Given the description of an element on the screen output the (x, y) to click on. 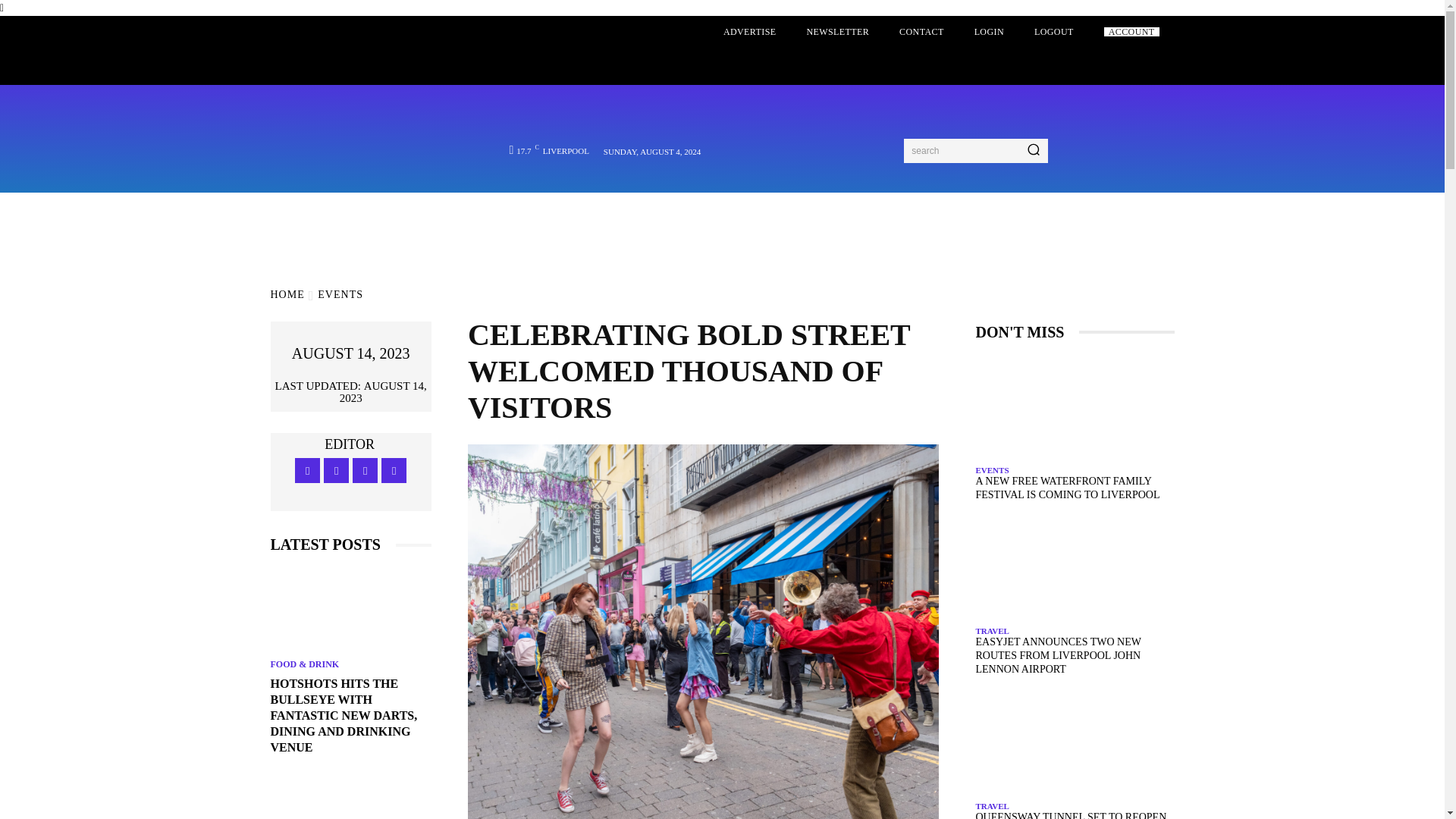
logo (368, 118)
